Given the description of an element on the screen output the (x, y) to click on. 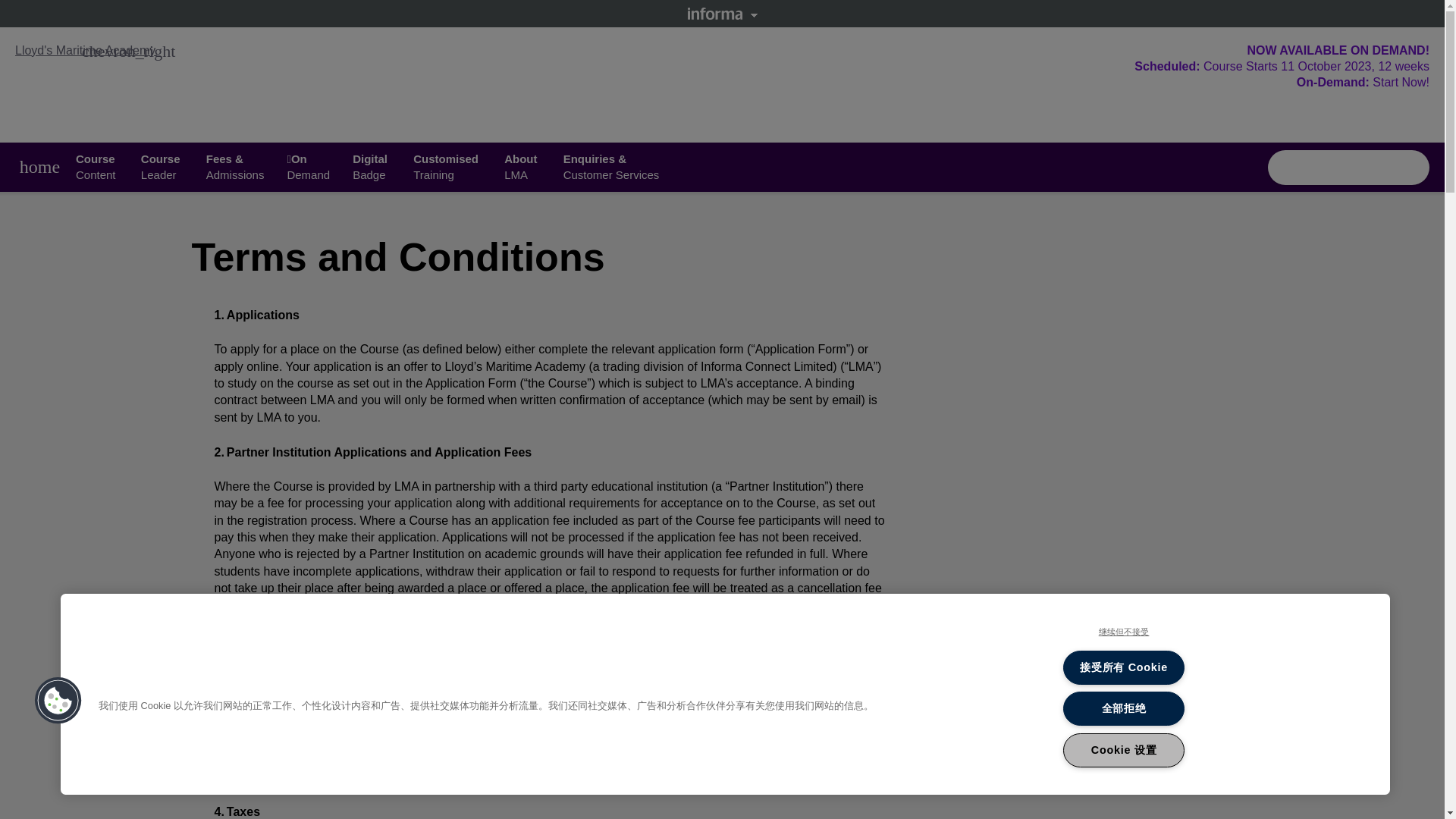
Book Now (162, 166)
Lloyd's Maritime Academy (1348, 167)
Cookies Button (84, 50)
home (57, 700)
Cookies Button (39, 166)
